Given the description of an element on the screen output the (x, y) to click on. 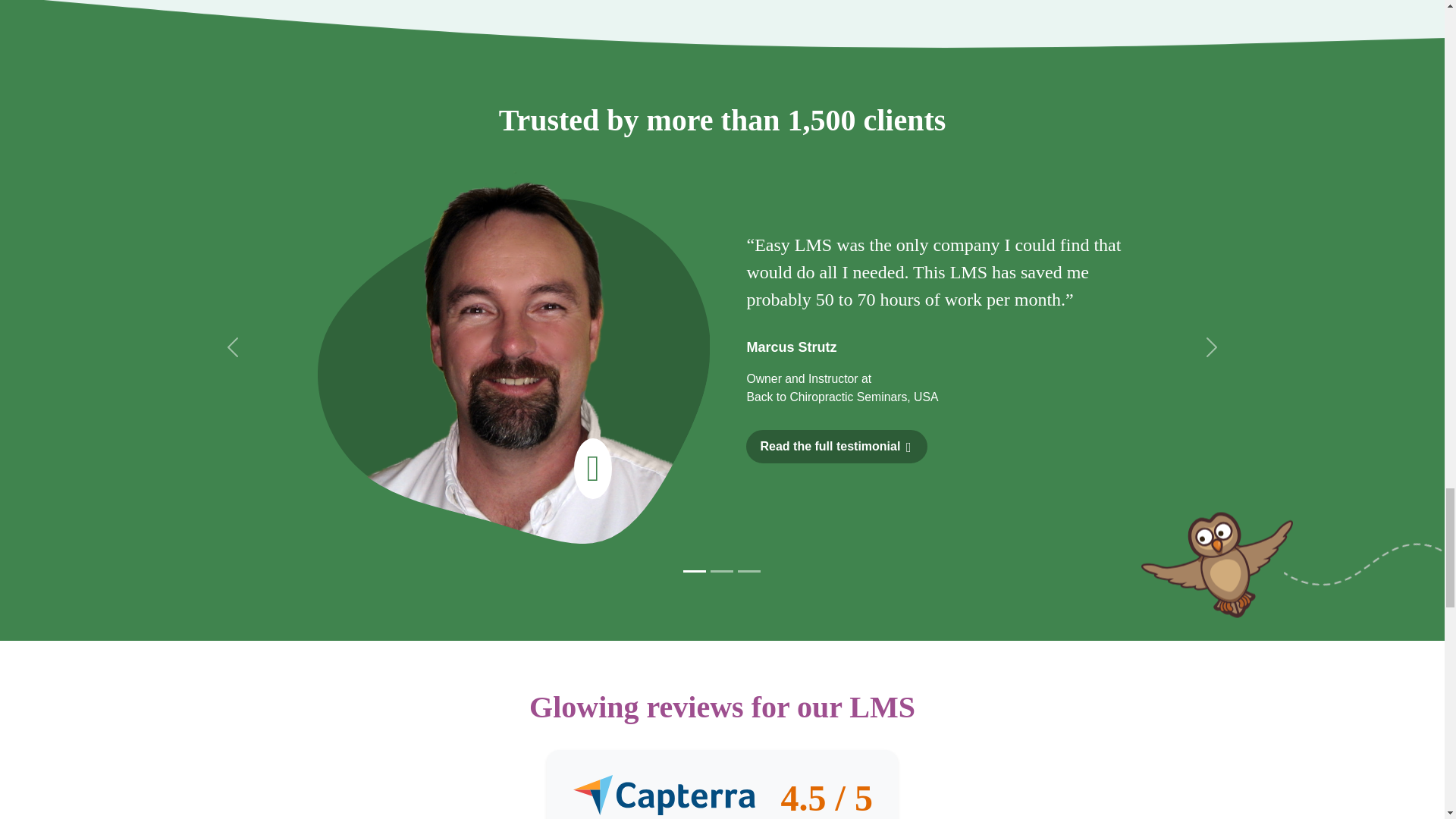
Read the full testimonial (835, 446)
